Given the description of an element on the screen output the (x, y) to click on. 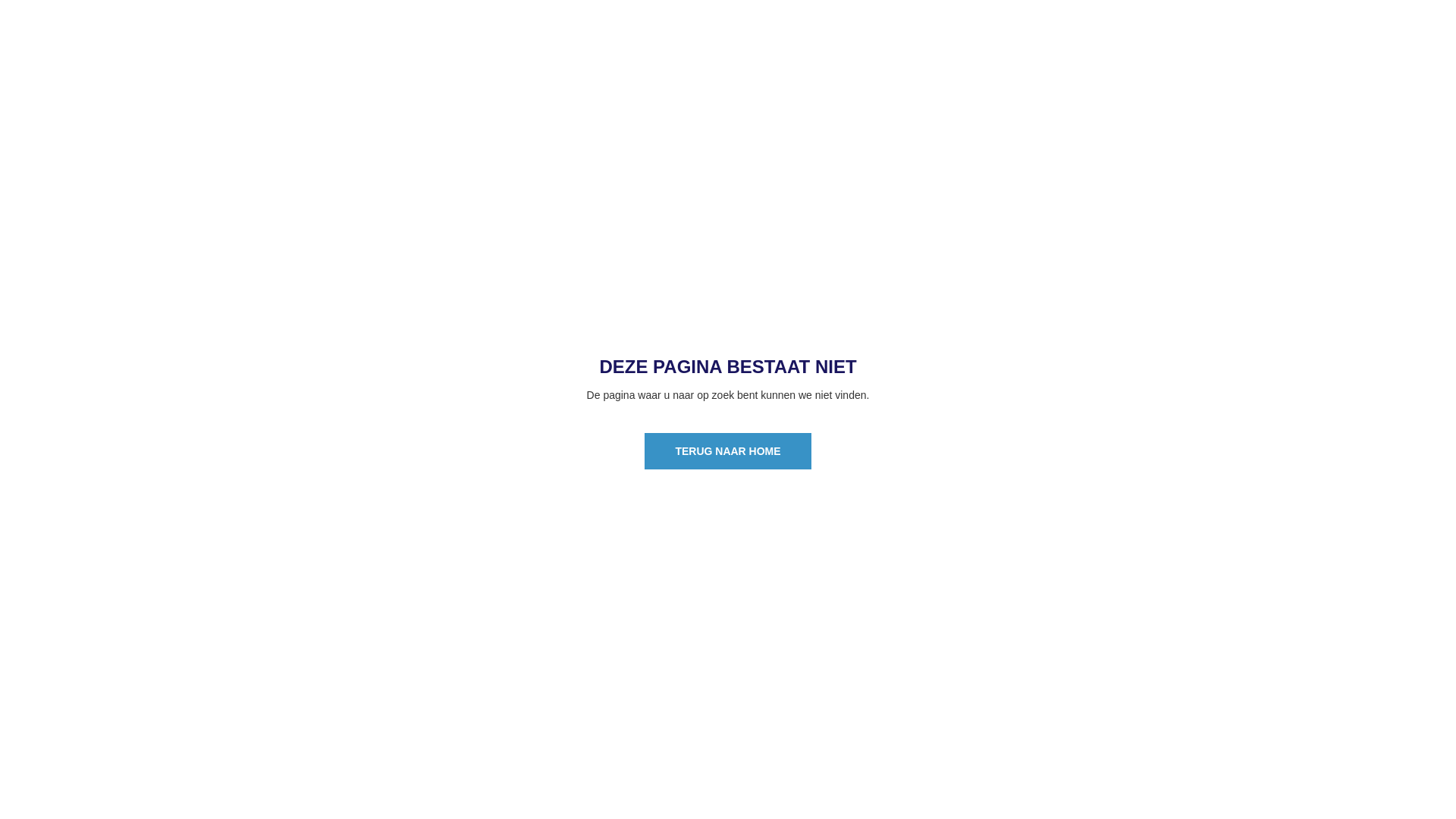
TERUG NAAR HOME Element type: text (727, 450)
